Given the description of an element on the screen output the (x, y) to click on. 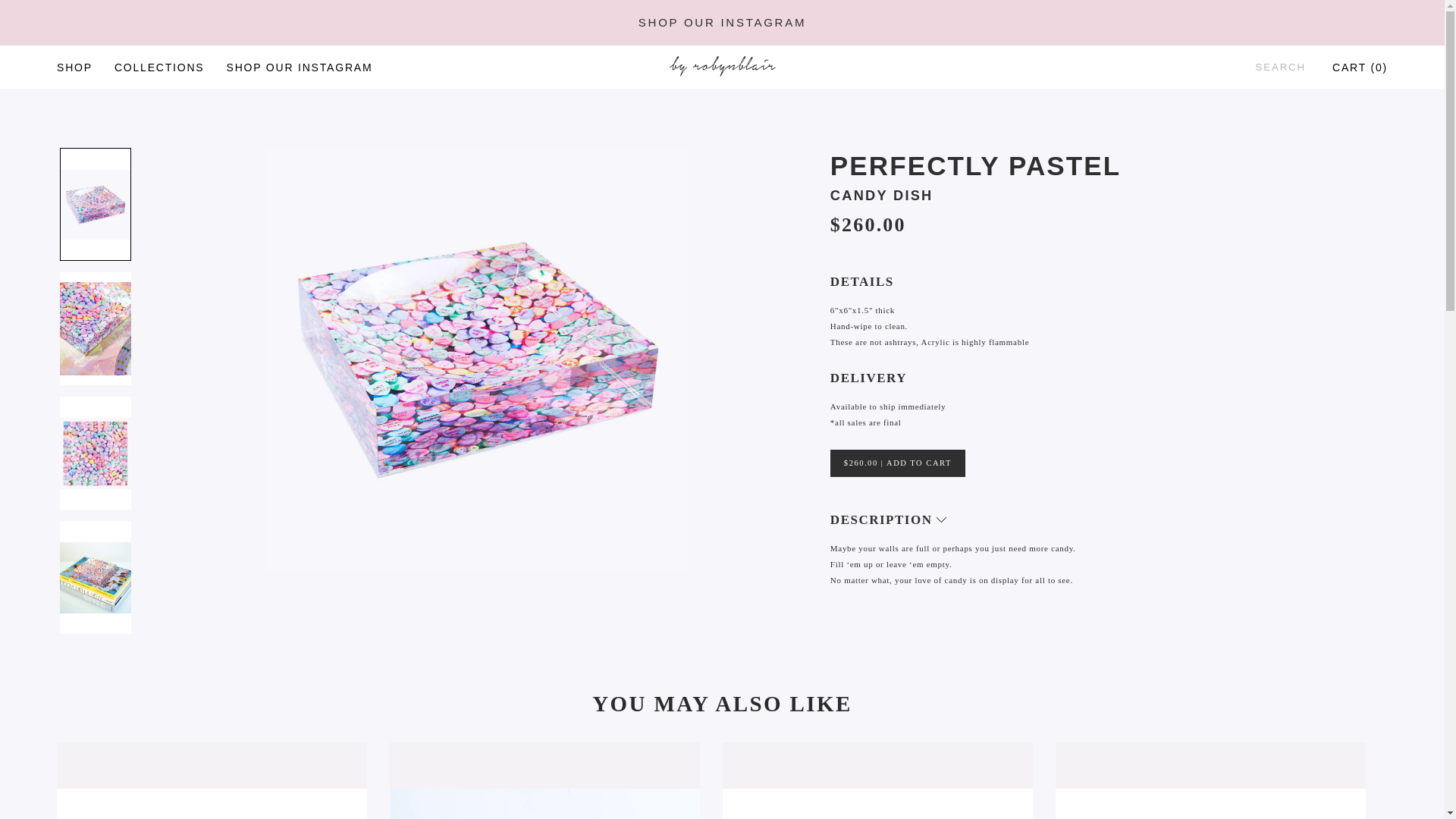
SHOP (74, 67)
